Given the description of an element on the screen output the (x, y) to click on. 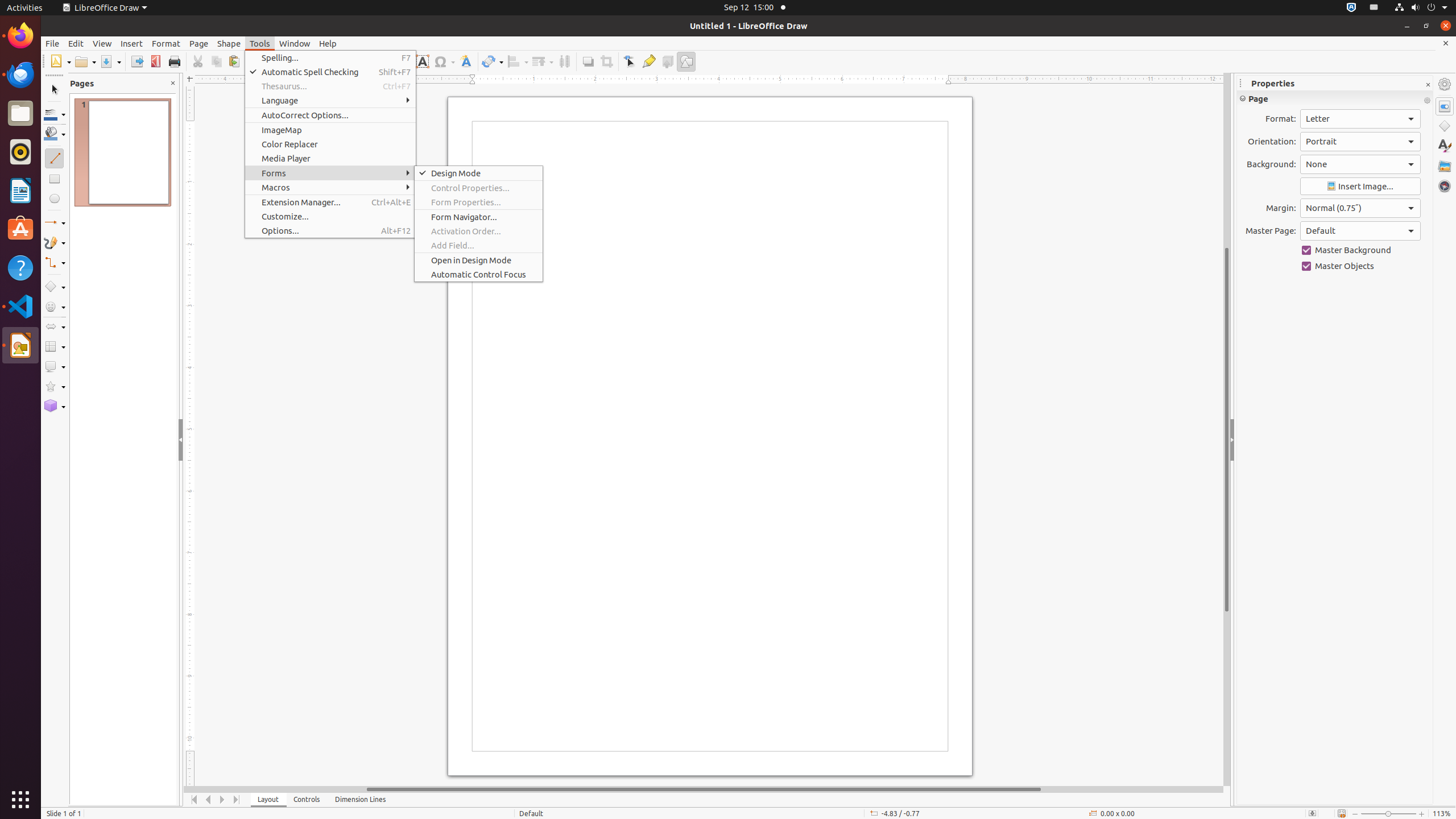
:1.21/StatusNotifierItem Element type: menu (1373, 7)
Insert Image Element type: push-button (1360, 186)
Shapes Element type: radio-button (1444, 126)
New Element type: push-button (59, 61)
Distribution Element type: push-button (564, 61)
